Given the description of an element on the screen output the (x, y) to click on. 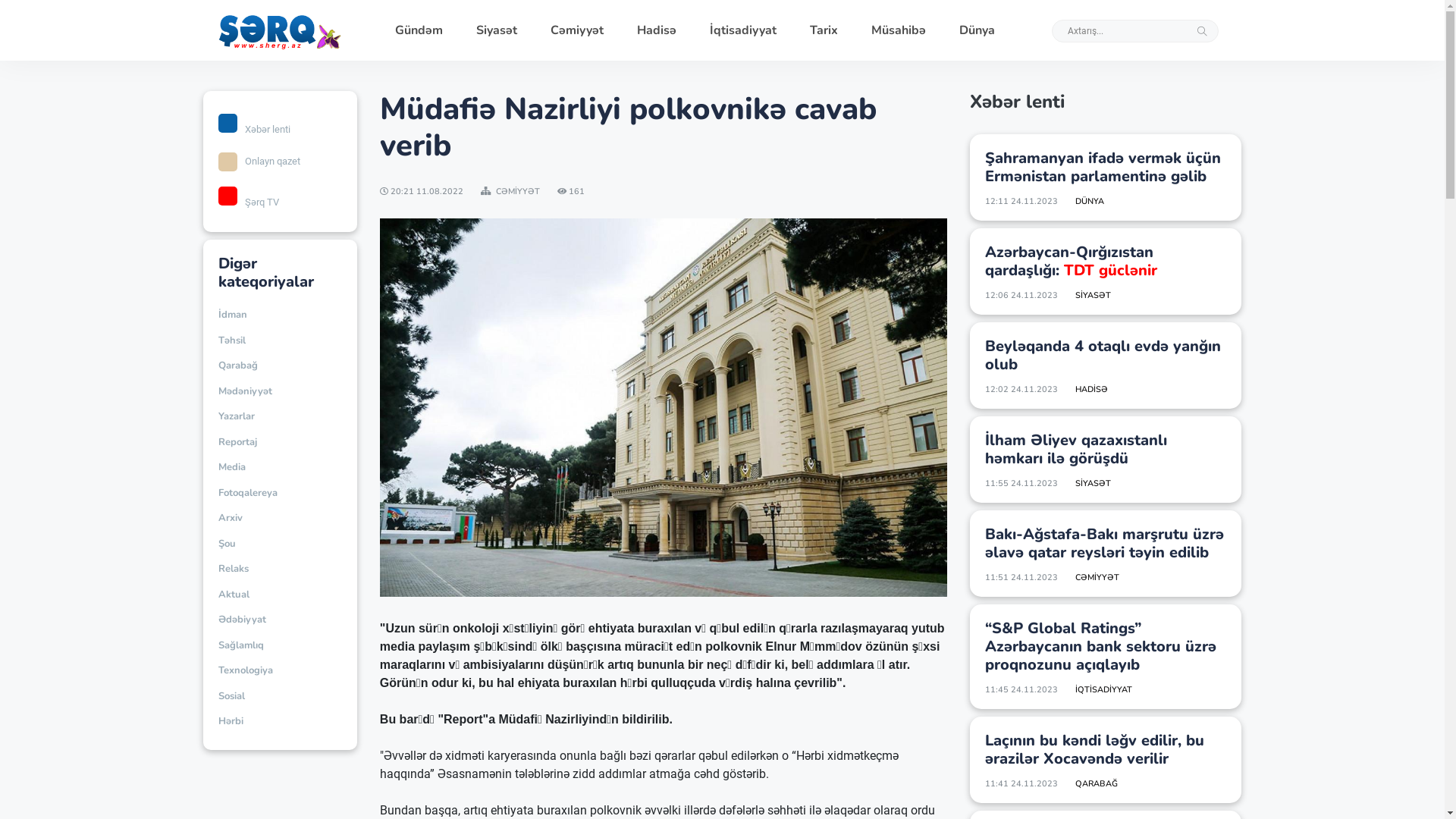
Media Element type: text (231, 467)
Sosial Element type: text (231, 696)
Aktual Element type: text (233, 595)
Yazarlar Element type: text (236, 416)
Reportaj Element type: text (237, 442)
Texnologiya Element type: text (245, 671)
Onlayn qazet Element type: text (280, 160)
Tarix Element type: text (823, 30)
Fotoqalereya Element type: text (247, 493)
Arxiv Element type: text (230, 518)
Relaks Element type: text (233, 569)
